Given the description of an element on the screen output the (x, y) to click on. 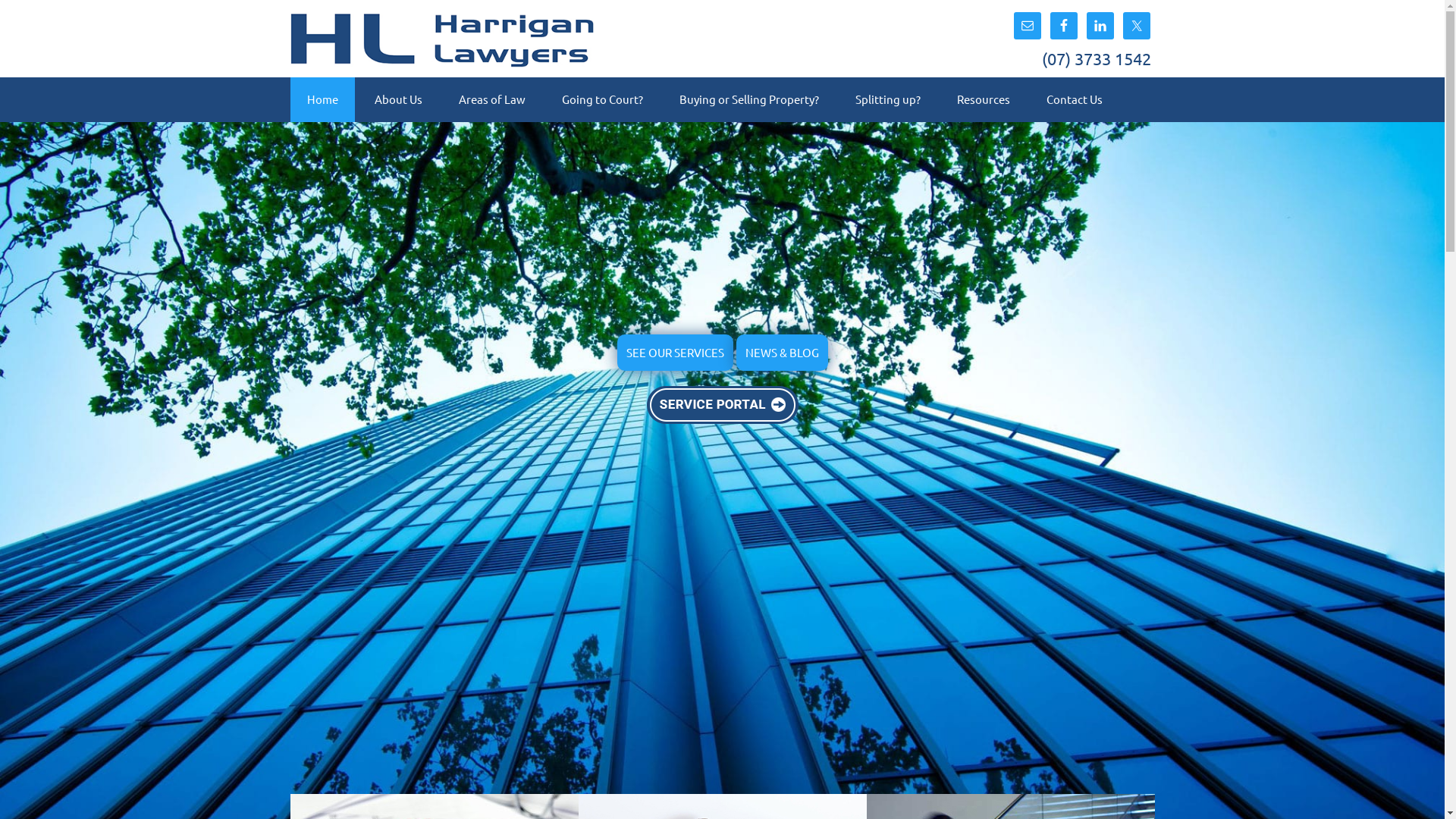
NEWS & BLOG Element type: text (781, 351)
Contact Us Element type: text (1074, 99)
Home Element type: text (321, 99)
Buying or Selling Property? Element type: text (748, 99)
Resources Element type: text (983, 99)
SEE OUR SERVICES Element type: text (675, 351)
About Us Element type: text (398, 99)
Harrigan Lawyers Element type: hover (441, 56)
Splitting up? Element type: text (887, 99)
Going to Court? Element type: text (601, 99)
Areas of Law Element type: text (491, 99)
